Given the description of an element on the screen output the (x, y) to click on. 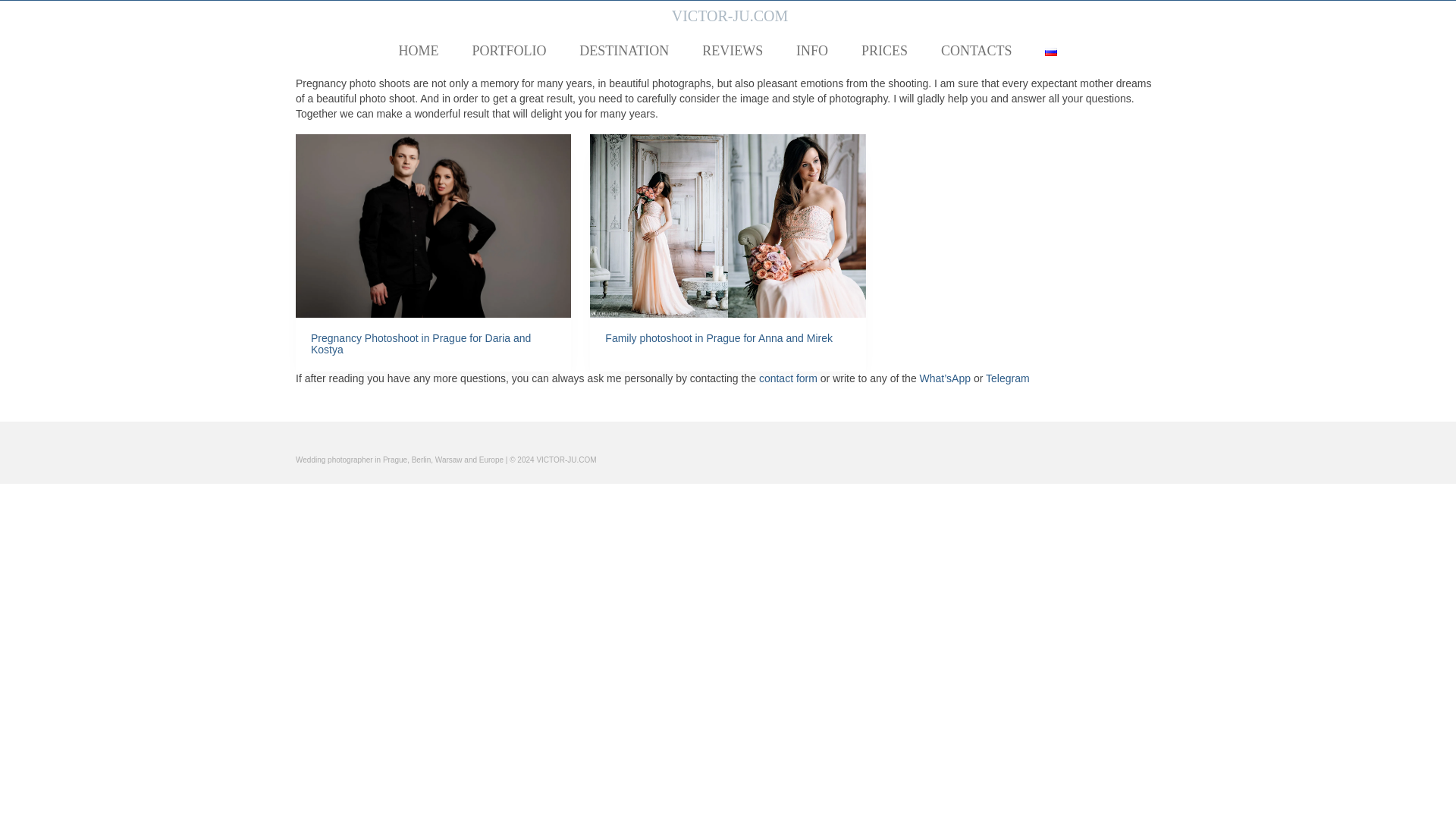
HOME (419, 50)
PRICES (884, 50)
CONTACTS (976, 50)
PORTFOLIO (508, 50)
REVIEWS (732, 50)
INFO (811, 50)
VICTOR-JU.COM (730, 15)
DESTINATION (624, 50)
